Given the description of an element on the screen output the (x, y) to click on. 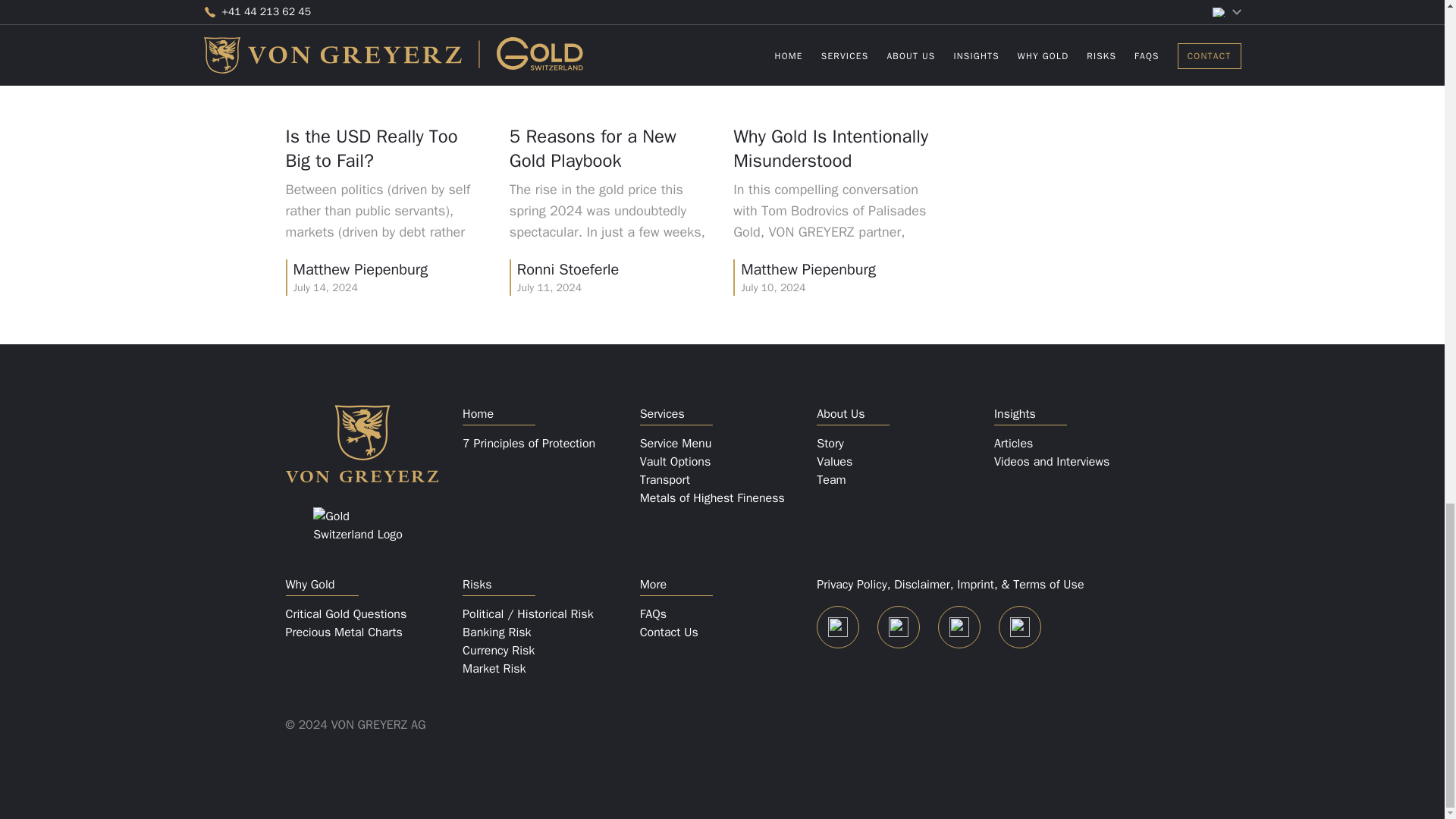
Home (545, 413)
